Given the description of an element on the screen output the (x, y) to click on. 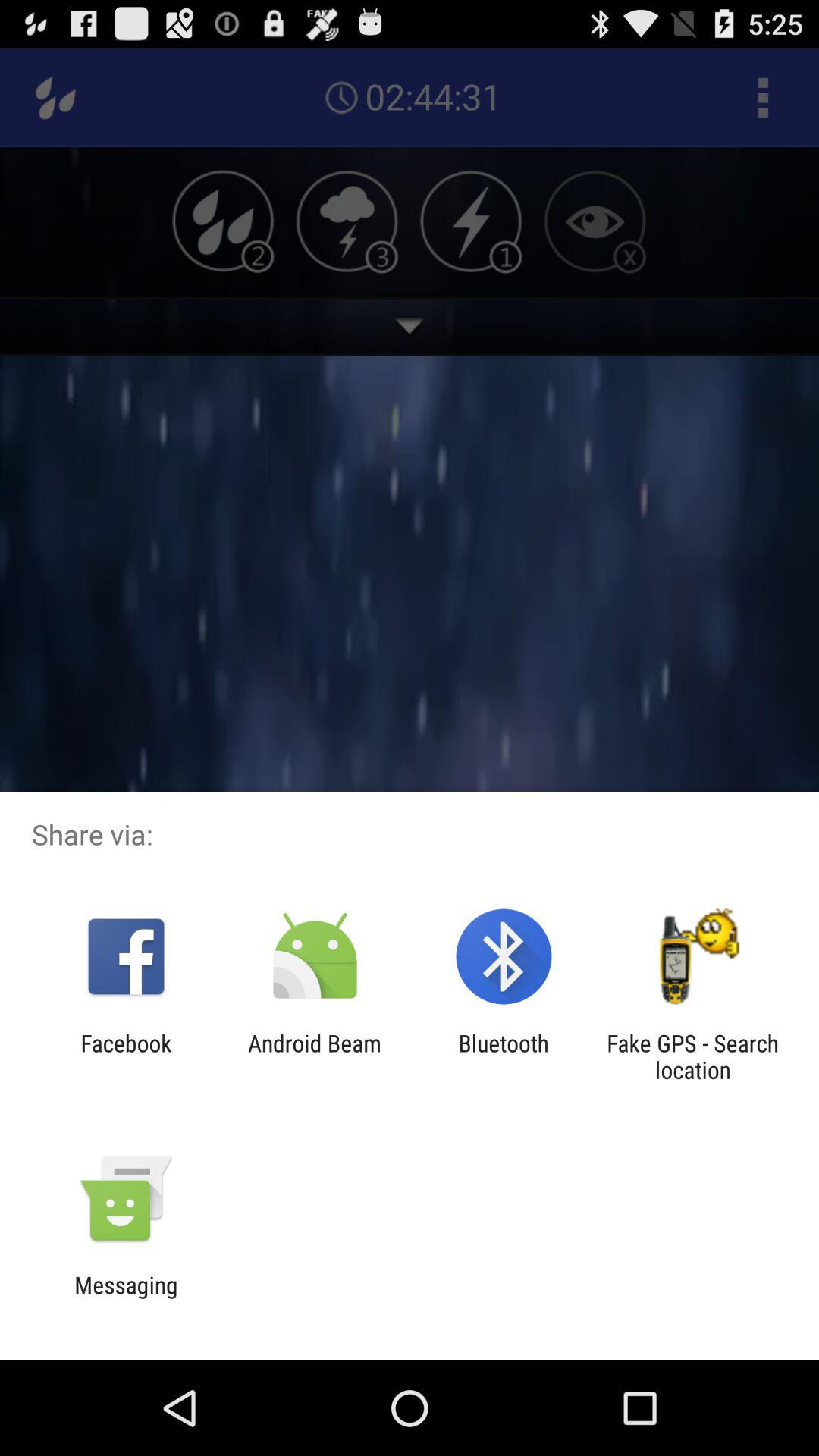
launch app next to the android beam icon (125, 1056)
